Given the description of an element on the screen output the (x, y) to click on. 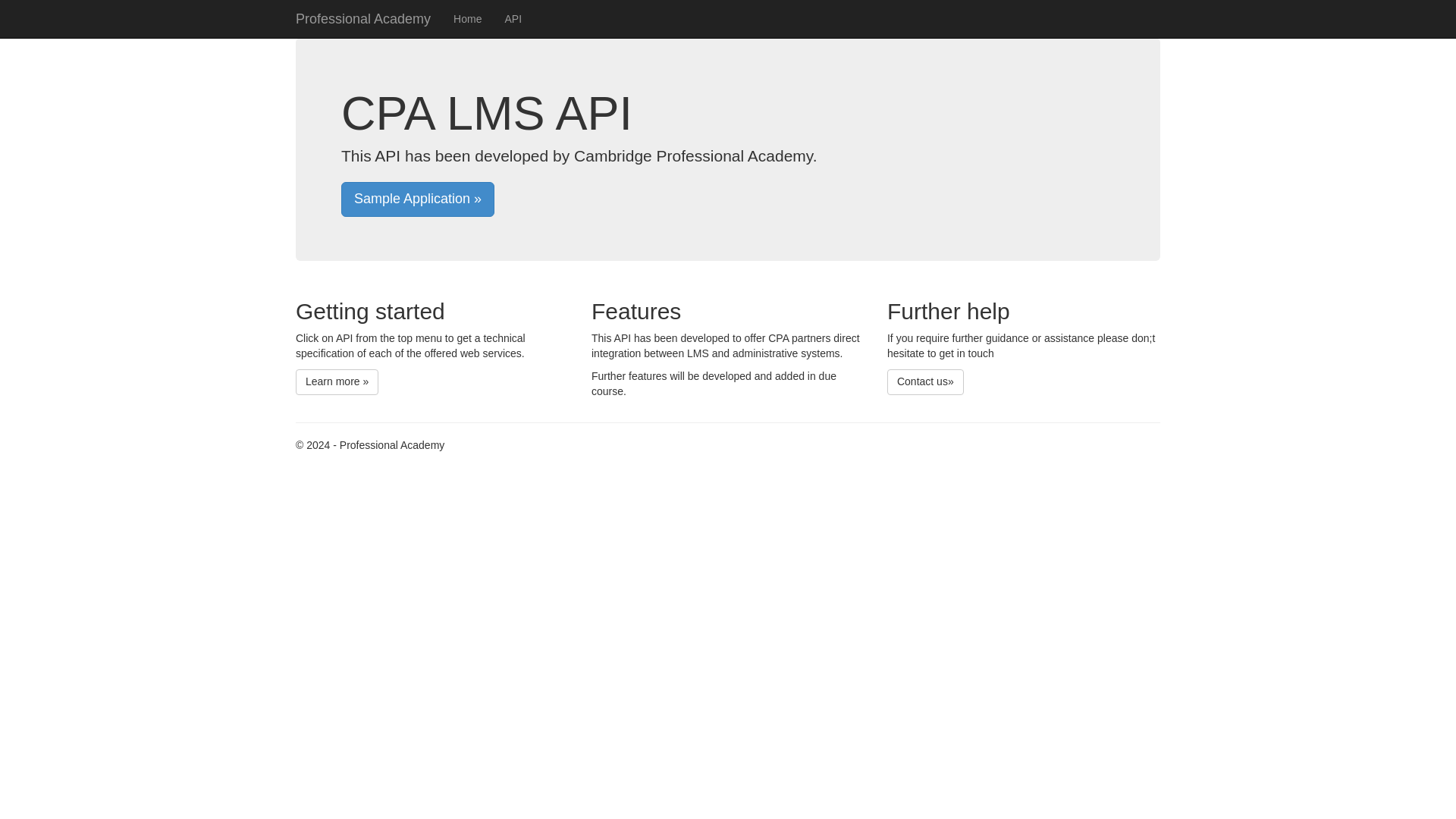
Home (467, 18)
Professional Academy (362, 18)
API (512, 18)
